Given the description of an element on the screen output the (x, y) to click on. 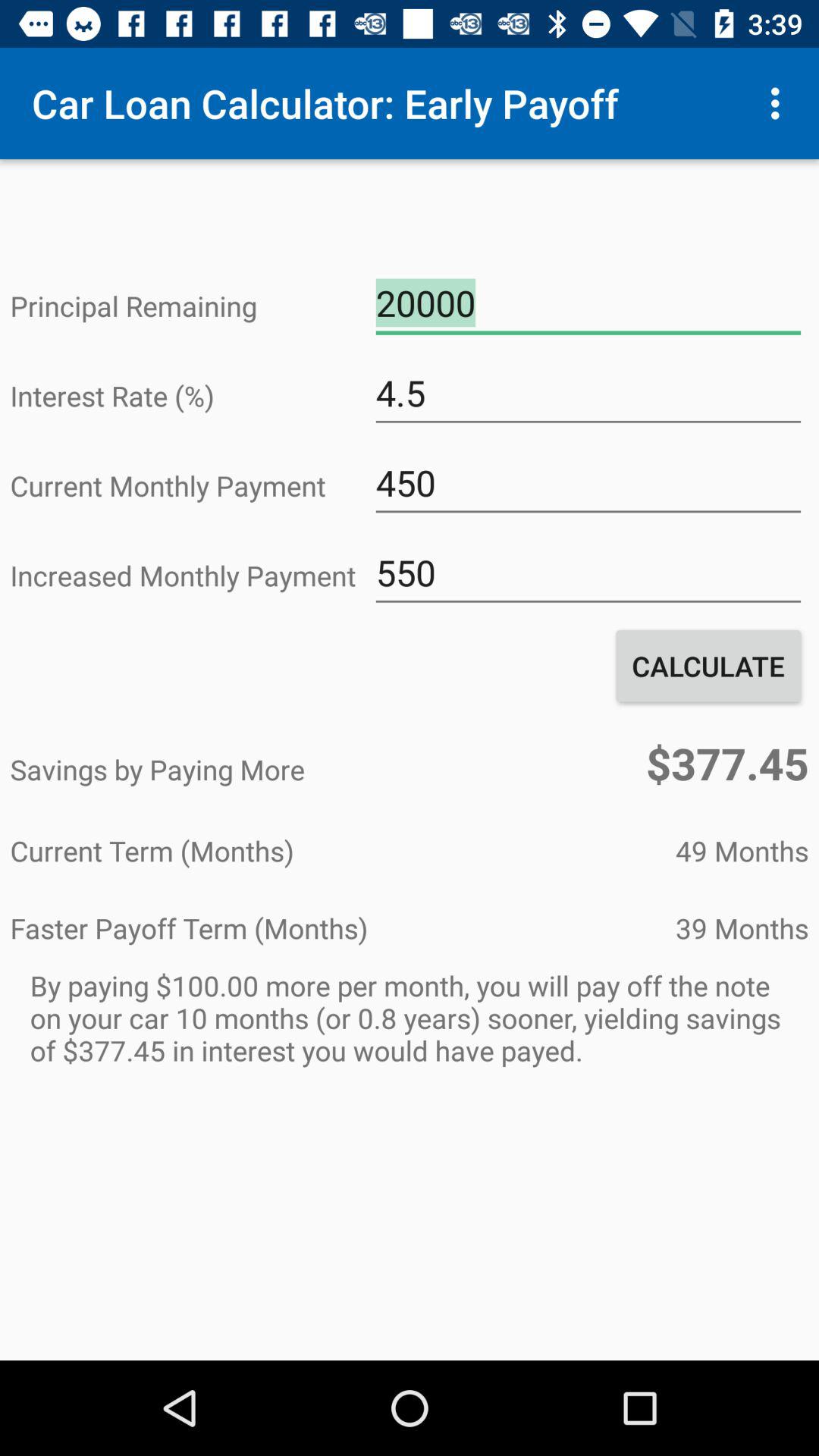
swipe to 450 icon (587, 483)
